Given the description of an element on the screen output the (x, y) to click on. 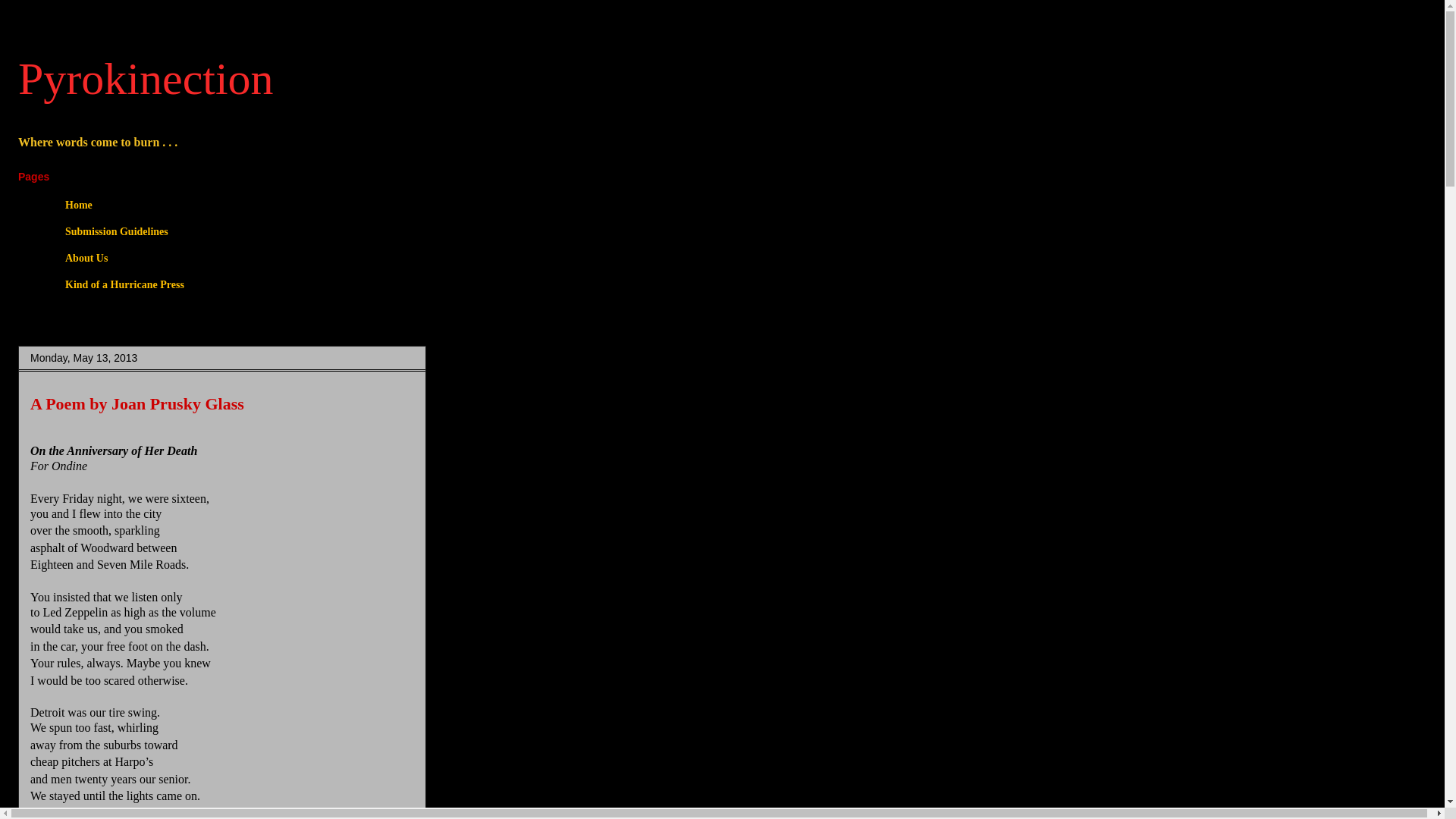
Submission Guidelines (116, 232)
Home (77, 205)
Pyrokinection (145, 79)
Kind of a Hurricane Press (124, 284)
About Us (85, 258)
